Given the description of an element on the screen output the (x, y) to click on. 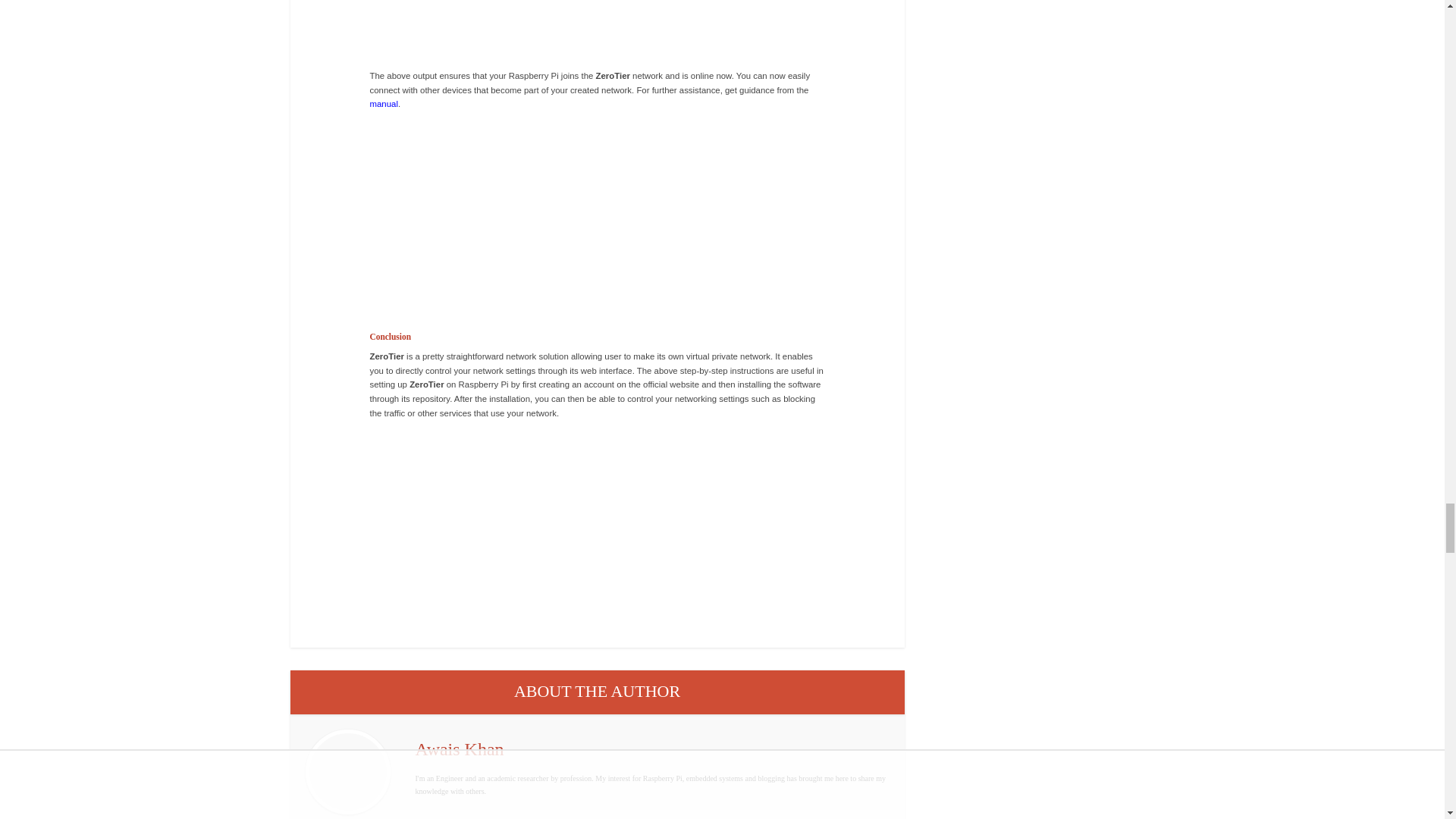
manual (383, 103)
